Given the description of an element on the screen output the (x, y) to click on. 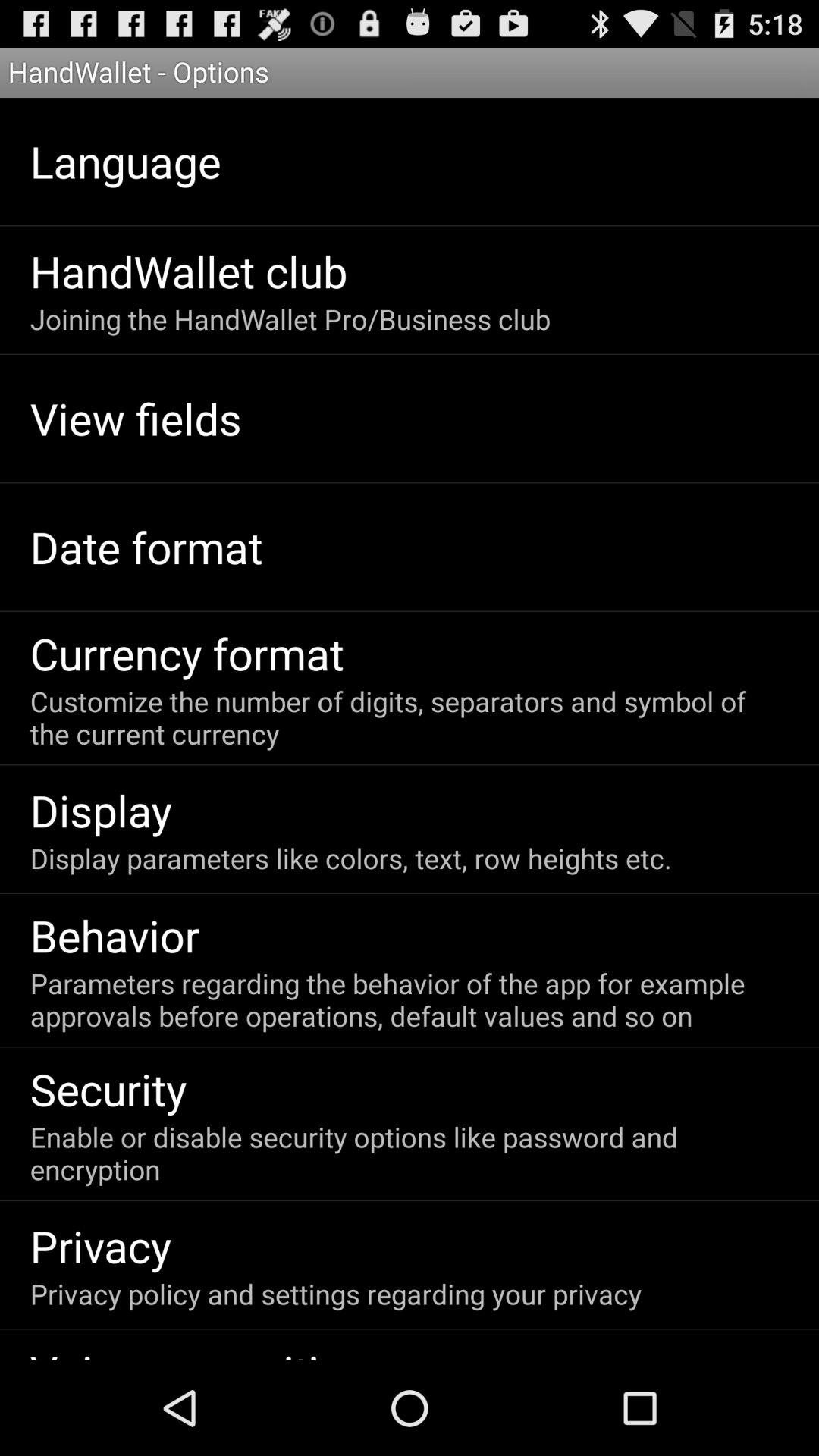
turn on date format icon (146, 546)
